Given the description of an element on the screen output the (x, y) to click on. 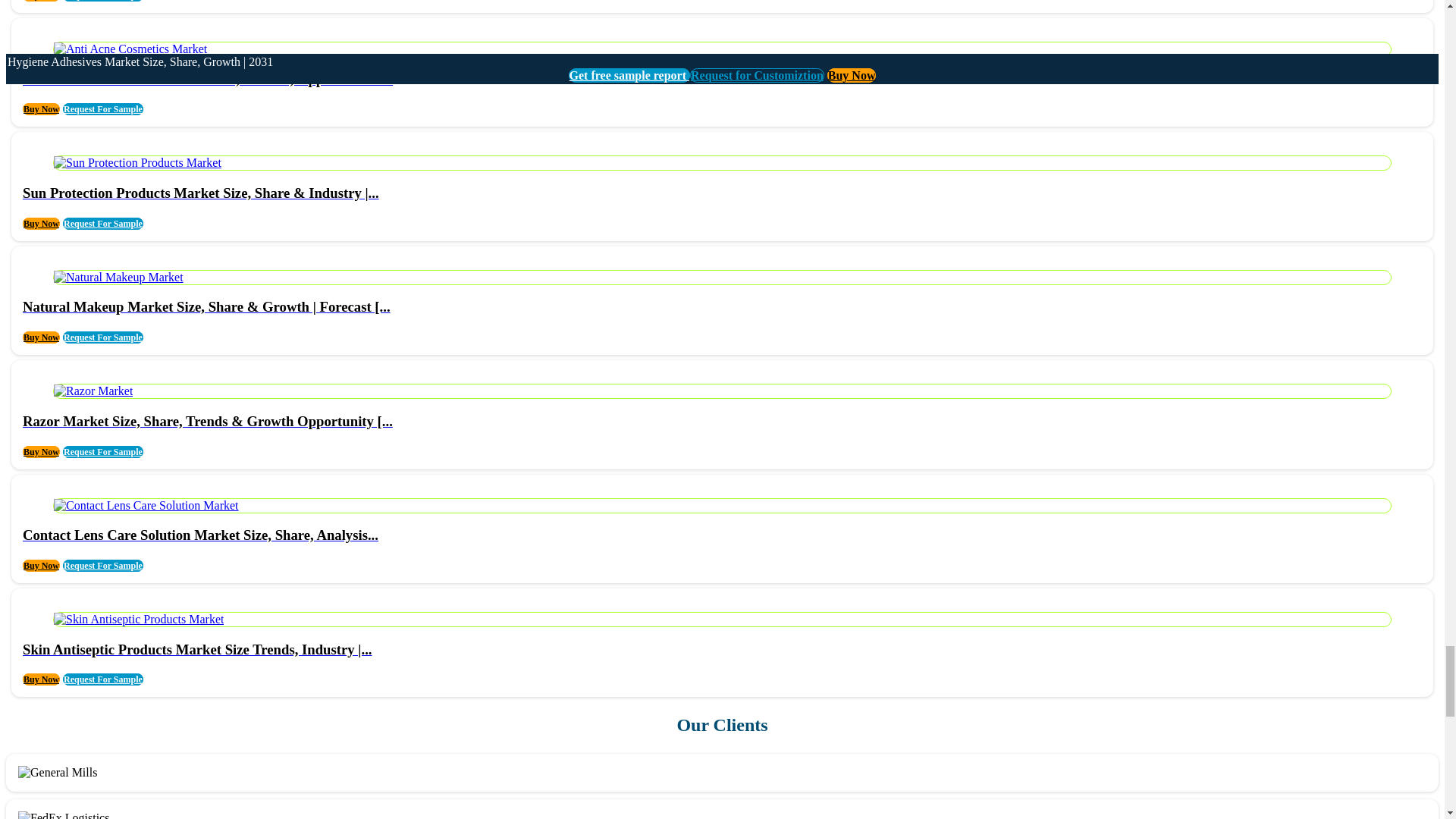
General Mills (57, 772)
FedEx Logistics (63, 815)
